Given the description of an element on the screen output the (x, y) to click on. 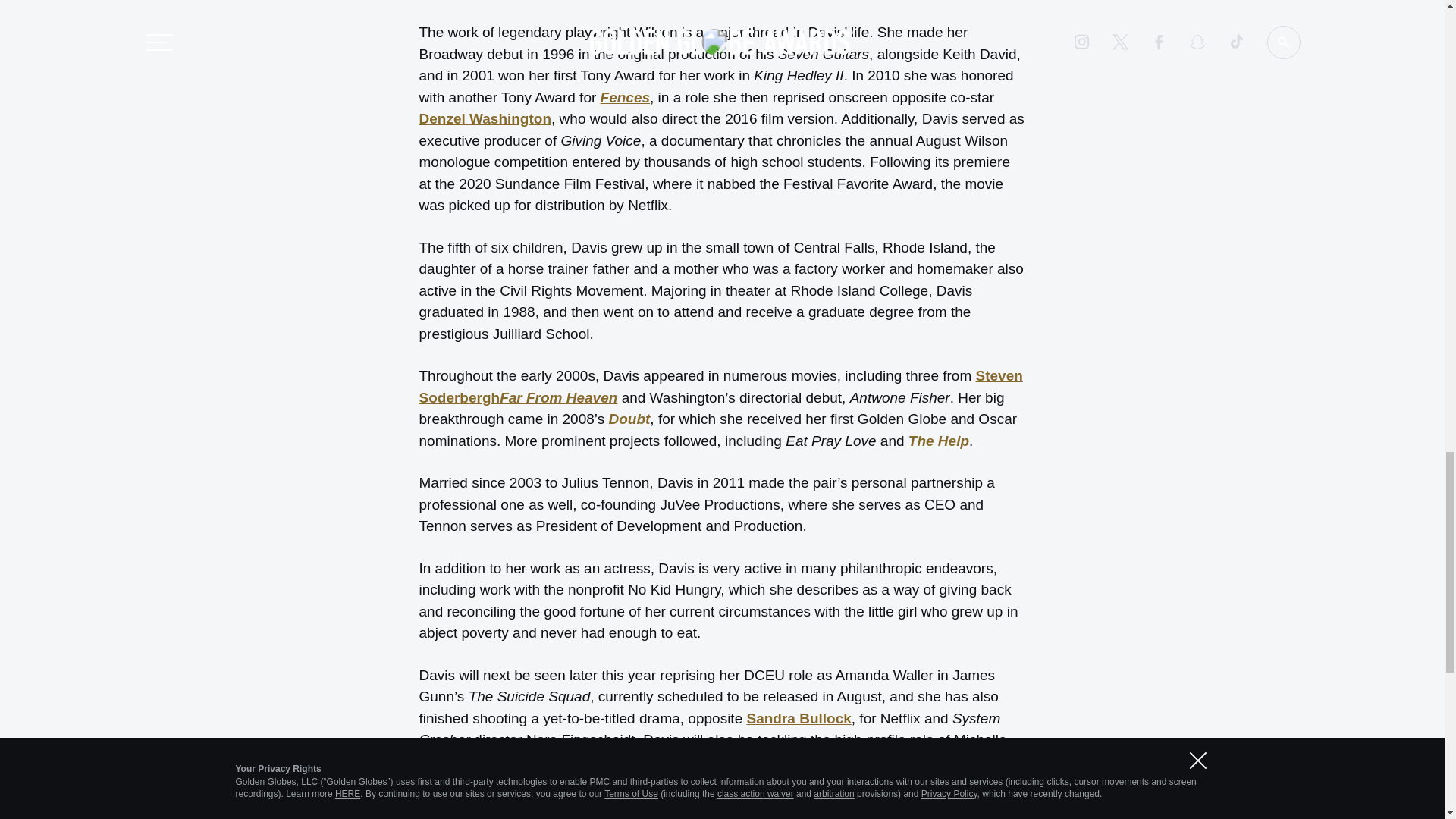
Steven Soderbergh (720, 386)
The Help (938, 440)
Doubt (628, 418)
Far From Heaven (558, 397)
Fences (624, 97)
Denzel Washington (485, 118)
